Given the description of an element on the screen output the (x, y) to click on. 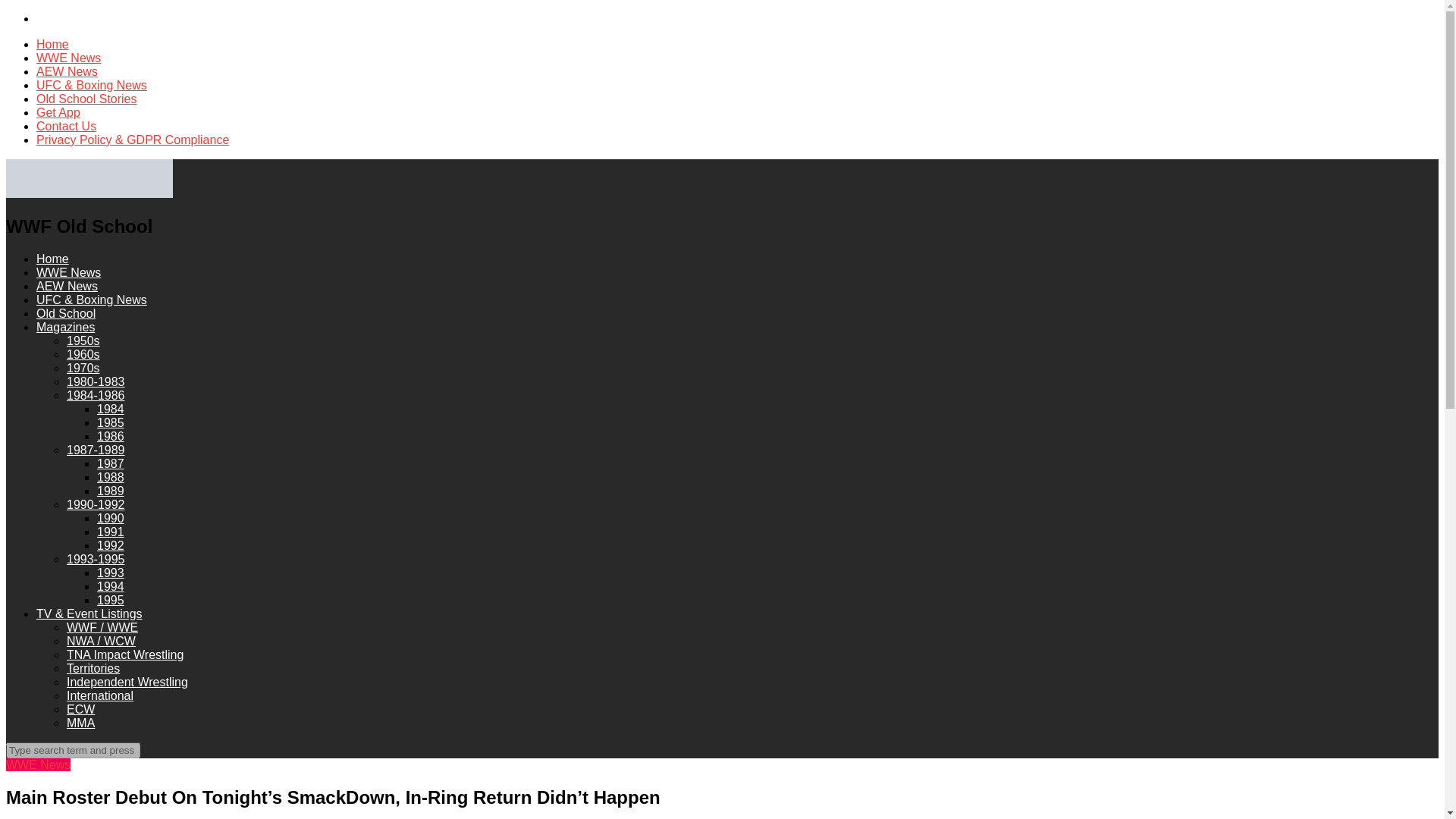
1993-1995 (95, 558)
1993 (110, 572)
Contact Us (66, 125)
1950s (83, 340)
1994 (110, 585)
1992 (110, 545)
1985 (110, 422)
1986 (110, 436)
1960s (83, 354)
AEW News (66, 286)
Get App (58, 112)
1995 (110, 599)
1991 (110, 531)
1980-1983 (95, 381)
Home (52, 43)
